Given the description of an element on the screen output the (x, y) to click on. 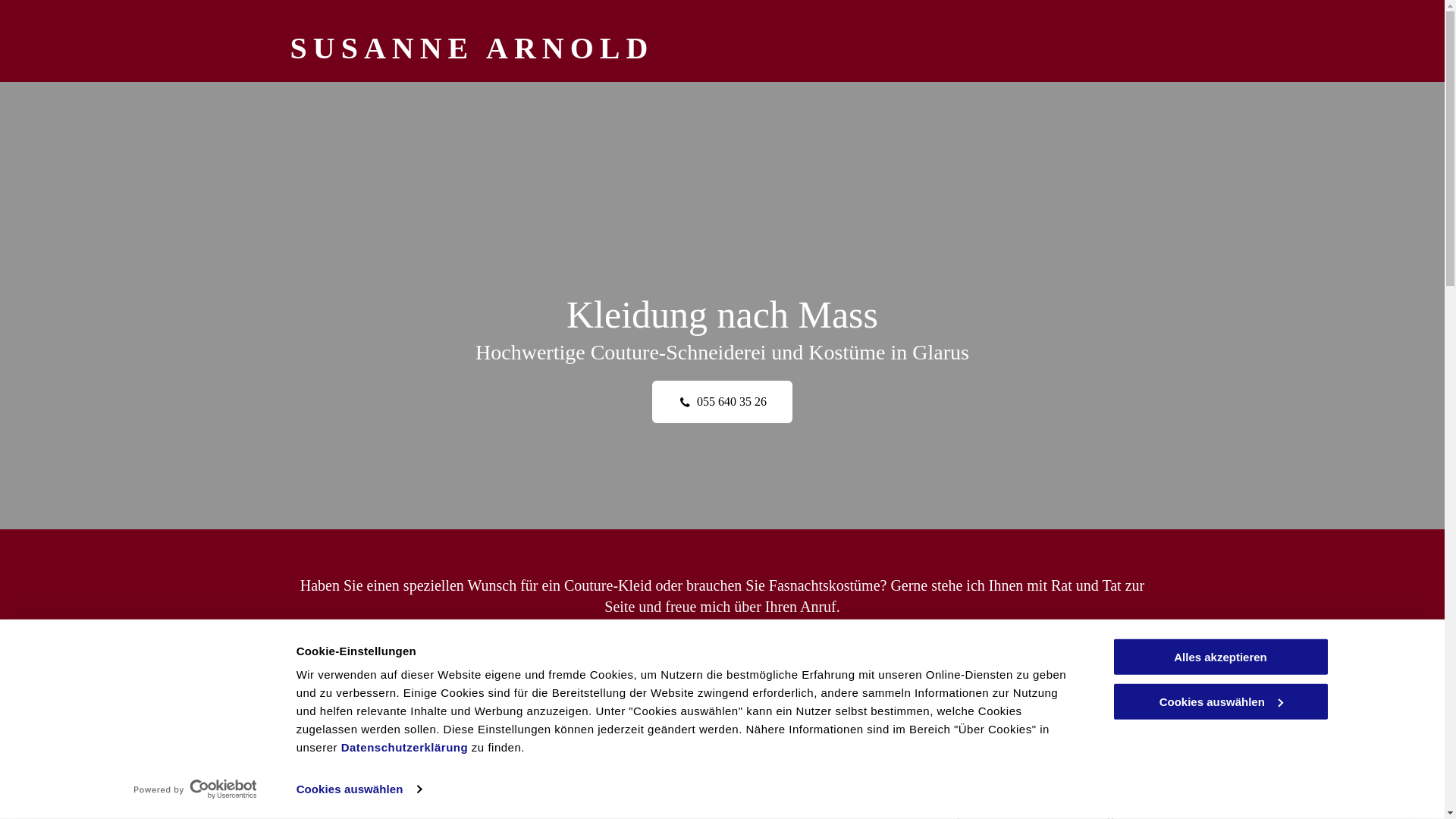
SUSANNE ARNOLD Element type: text (471, 48)
055 640 35 26 Element type: text (722, 401)
Alles akzeptieren Element type: text (1219, 656)
